Given the description of an element on the screen output the (x, y) to click on. 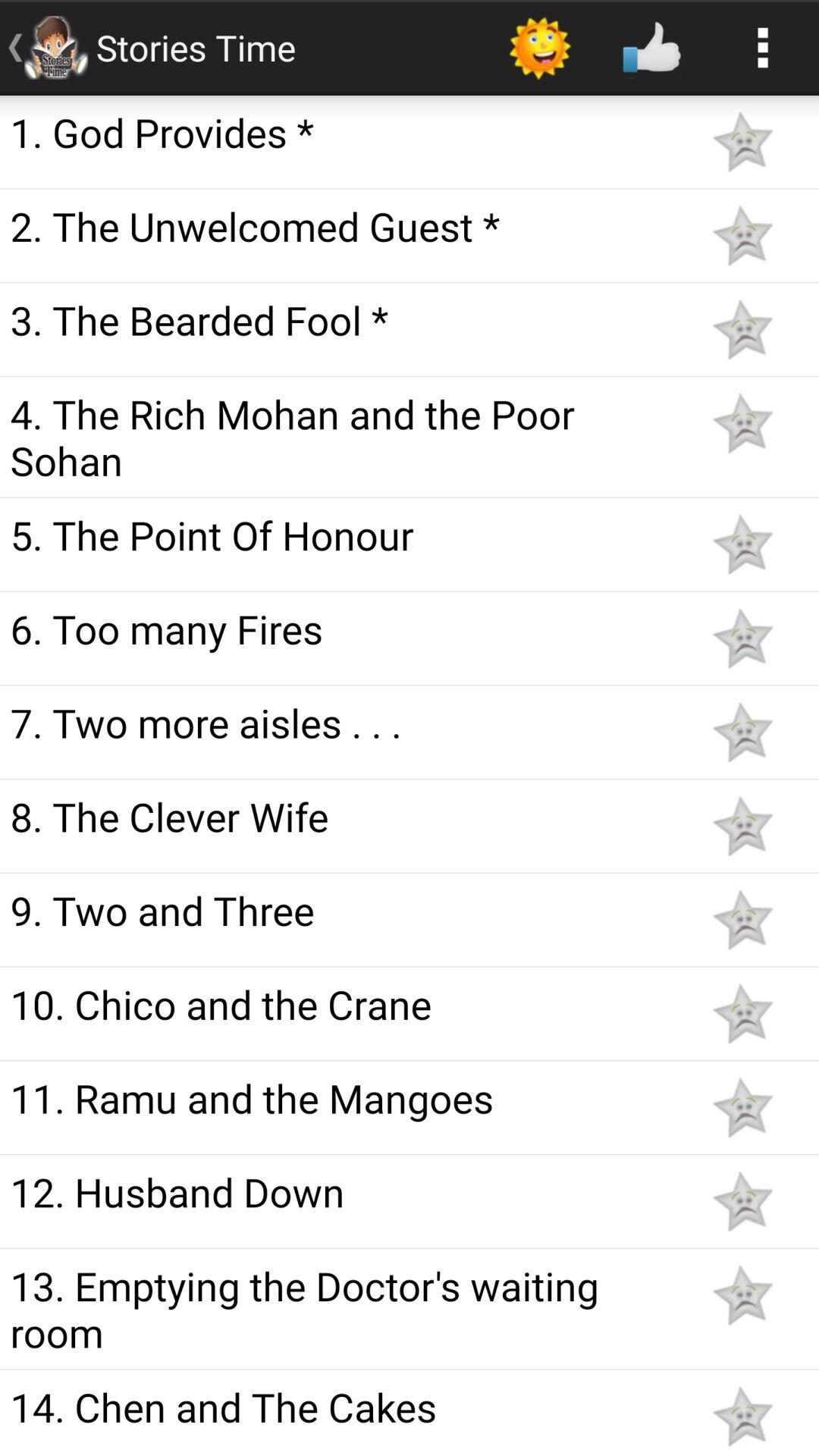
add book mark (742, 329)
